Given the description of an element on the screen output the (x, y) to click on. 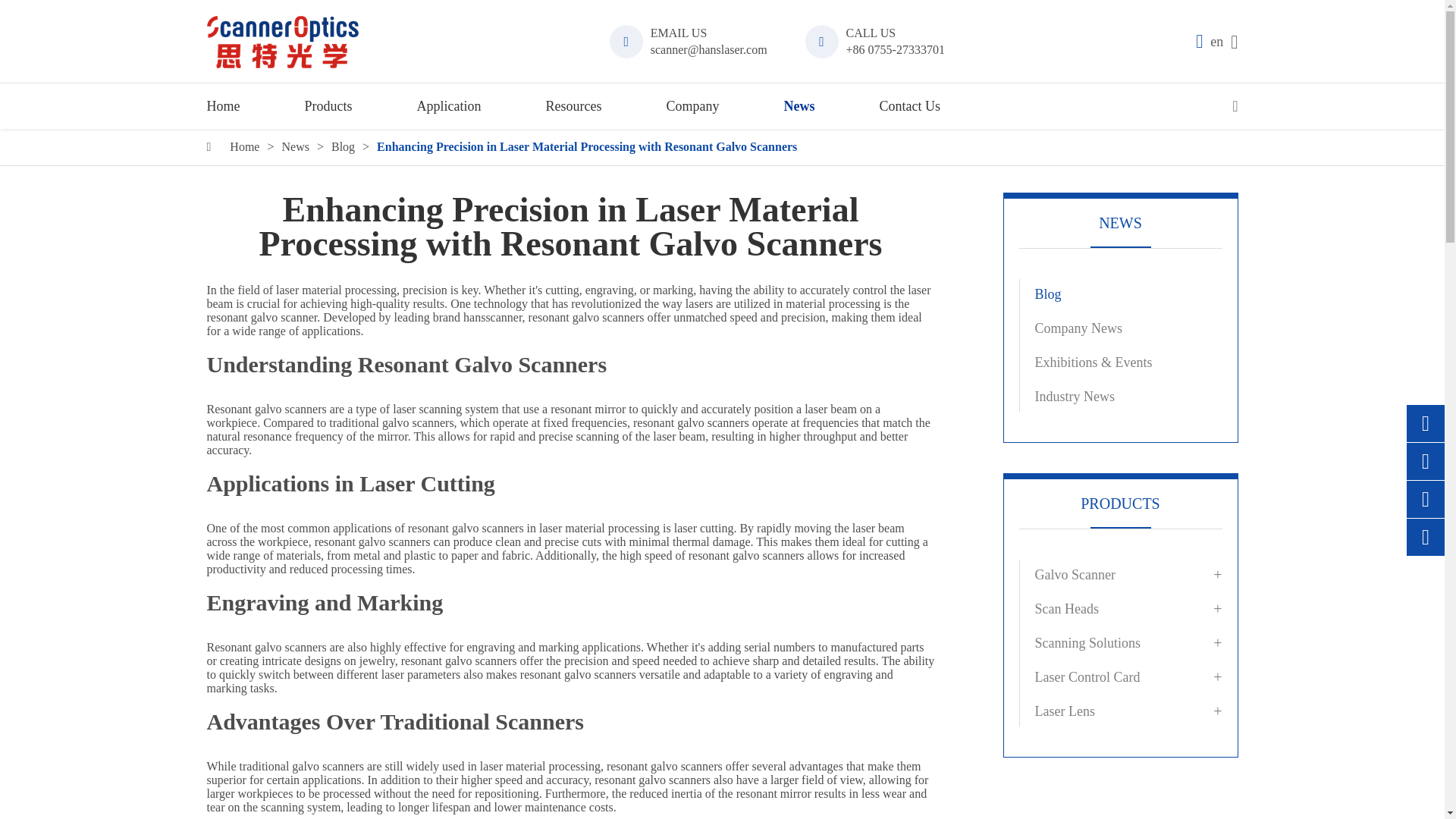
News (294, 147)
Blog (343, 147)
